Given the description of an element on the screen output the (x, y) to click on. 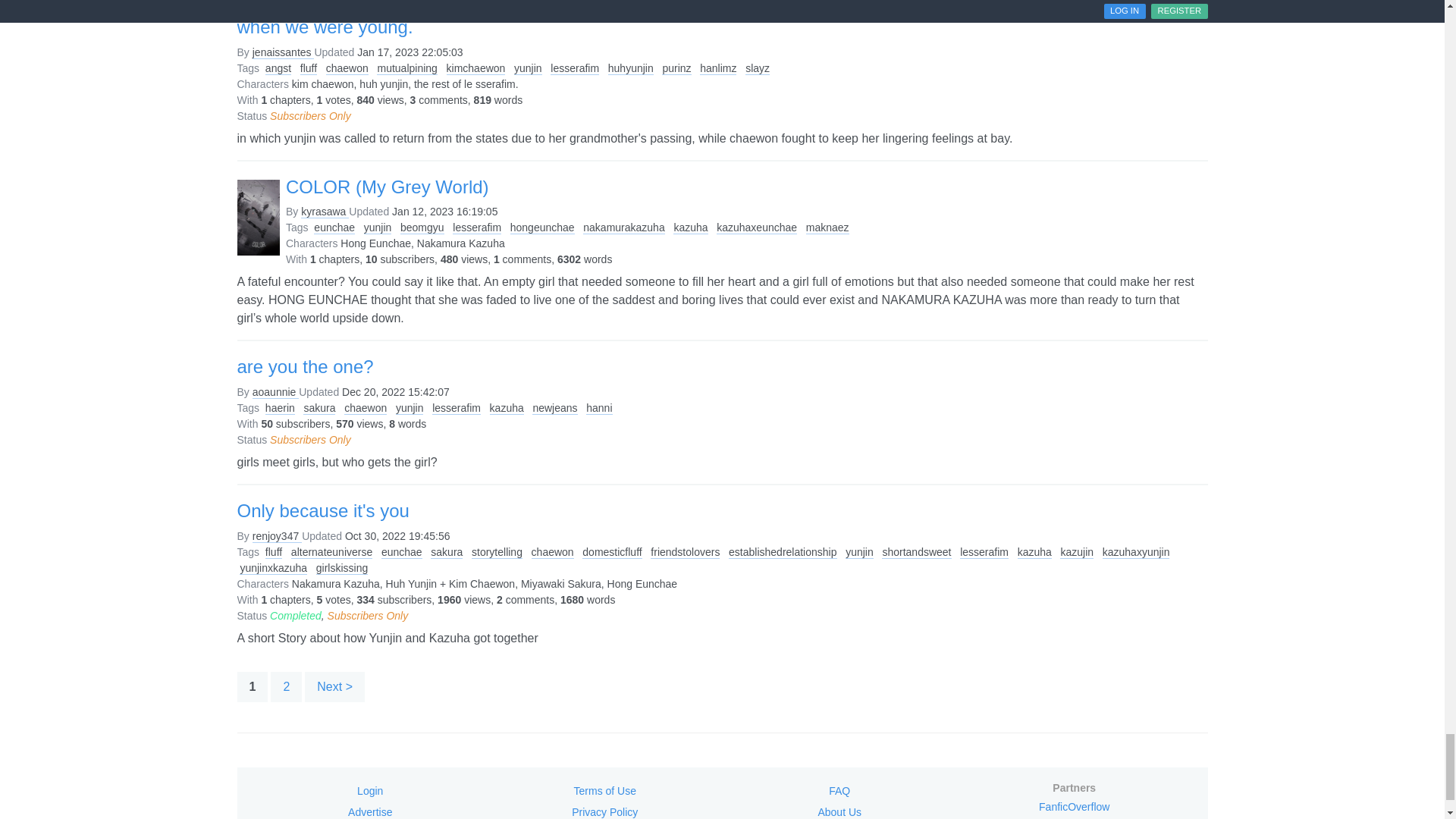
FAQ (839, 790)
